Given the description of an element on the screen output the (x, y) to click on. 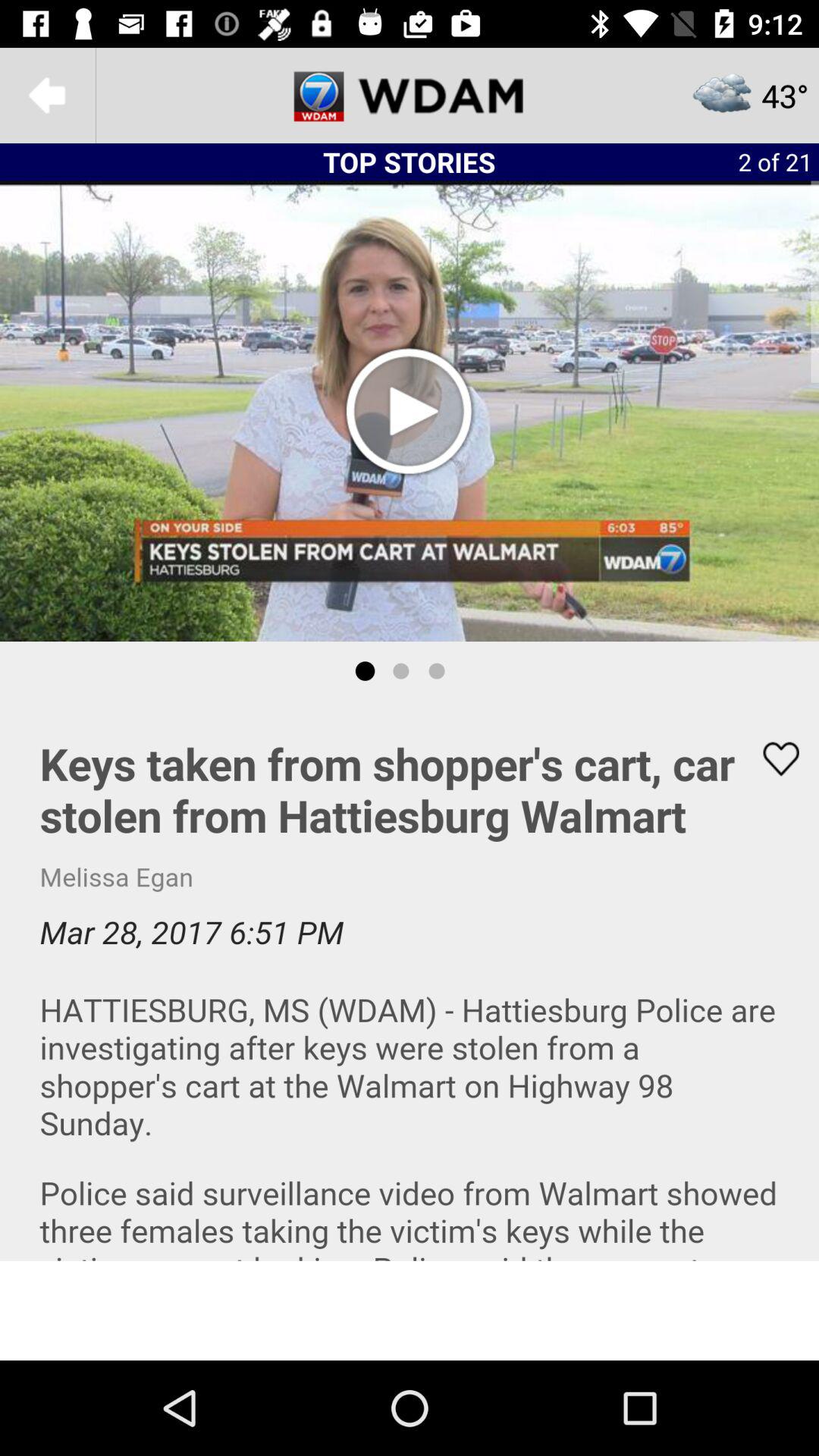
go back (47, 95)
